Given the description of an element on the screen output the (x, y) to click on. 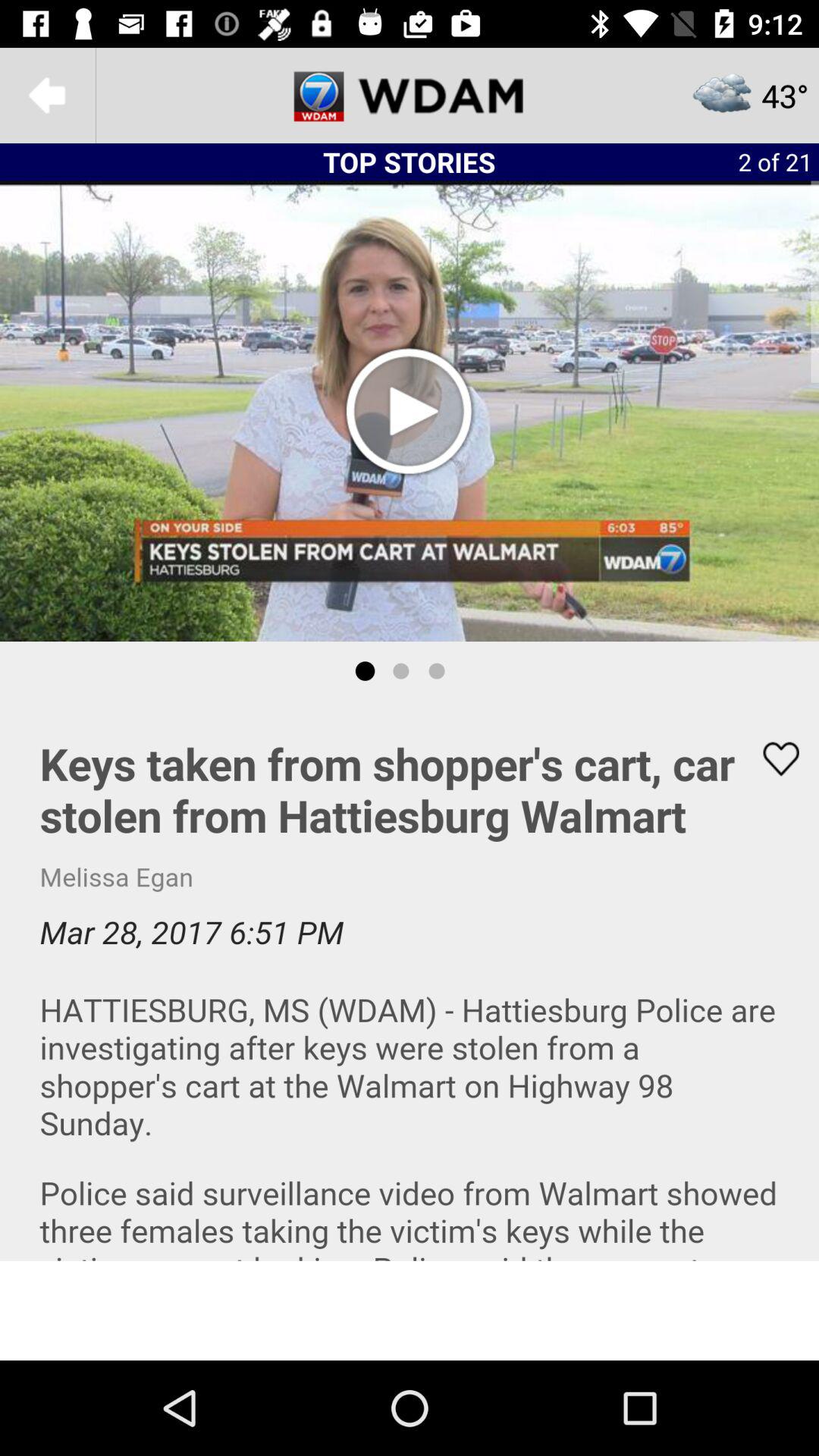
go back (47, 95)
